Given the description of an element on the screen output the (x, y) to click on. 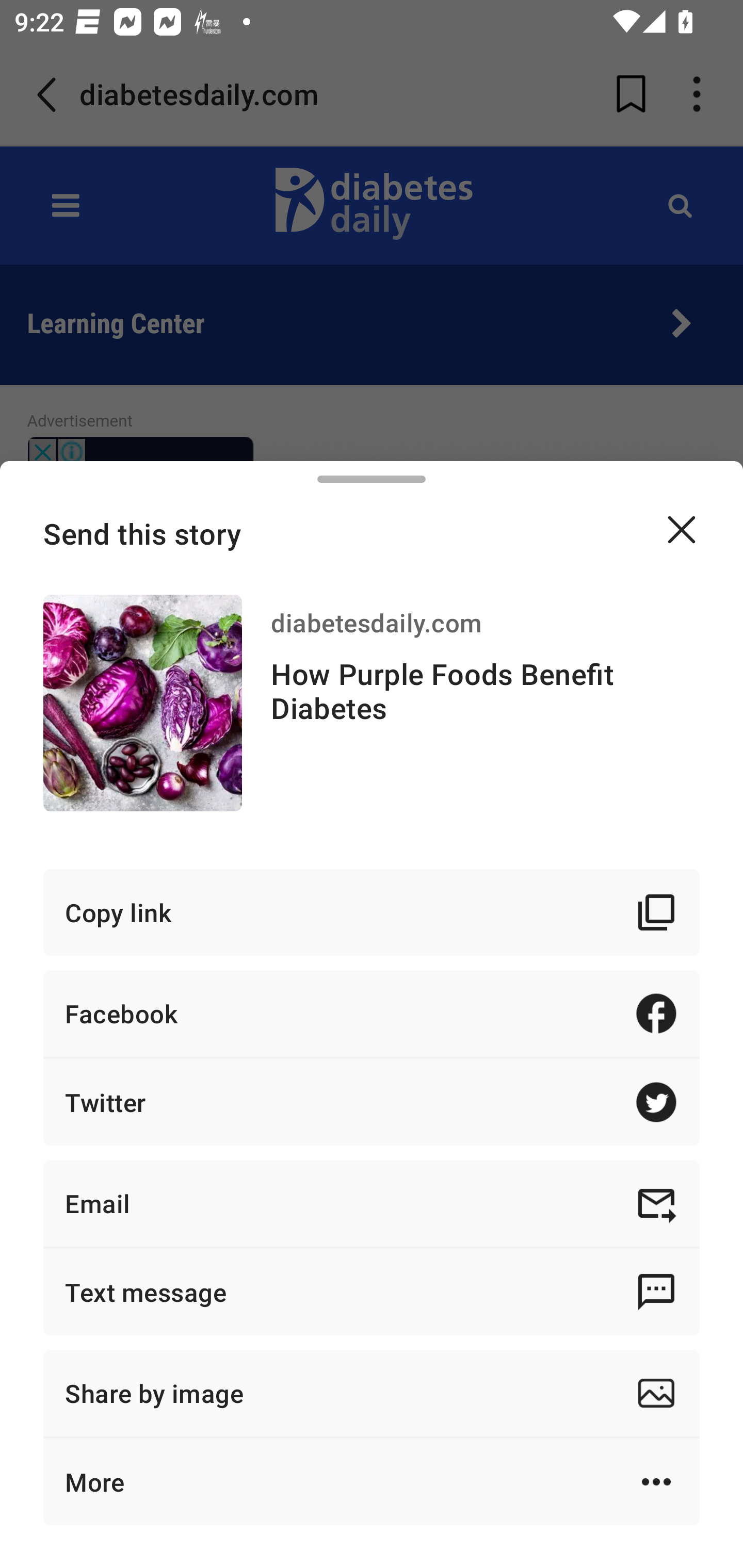
Copy link (371, 912)
Facebook (371, 1013)
Twitter (371, 1102)
Email (371, 1203)
Text message (371, 1291)
Share by image (371, 1393)
More (371, 1481)
